Given the description of an element on the screen output the (x, y) to click on. 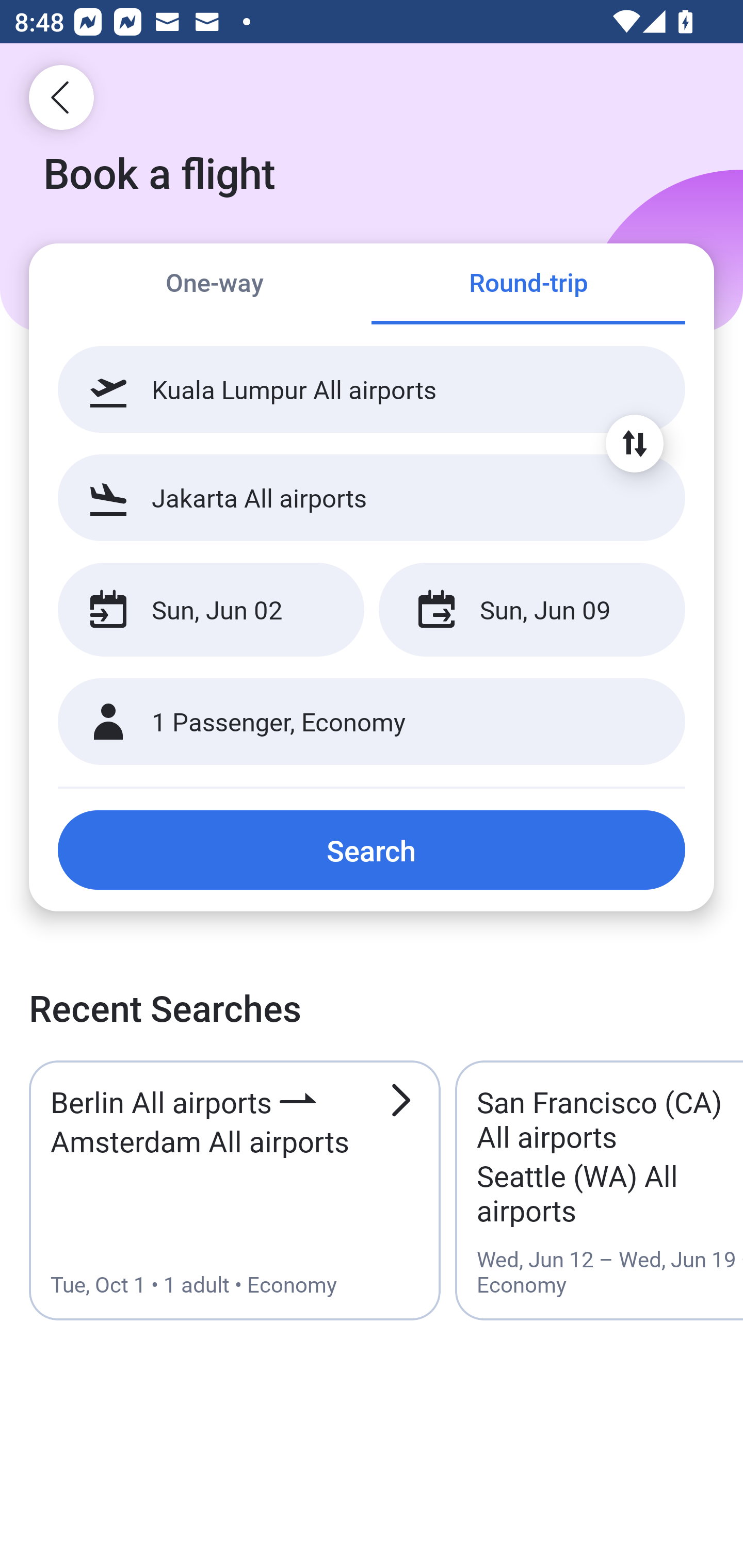
One-way (214, 284)
Kuala Lumpur All airports (371, 389)
Jakarta All airports (371, 497)
Sun, Jun 02 (210, 609)
Sun, Jun 09 (531, 609)
1 Passenger, Economy (371, 721)
Search (371, 849)
